Given the description of an element on the screen output the (x, y) to click on. 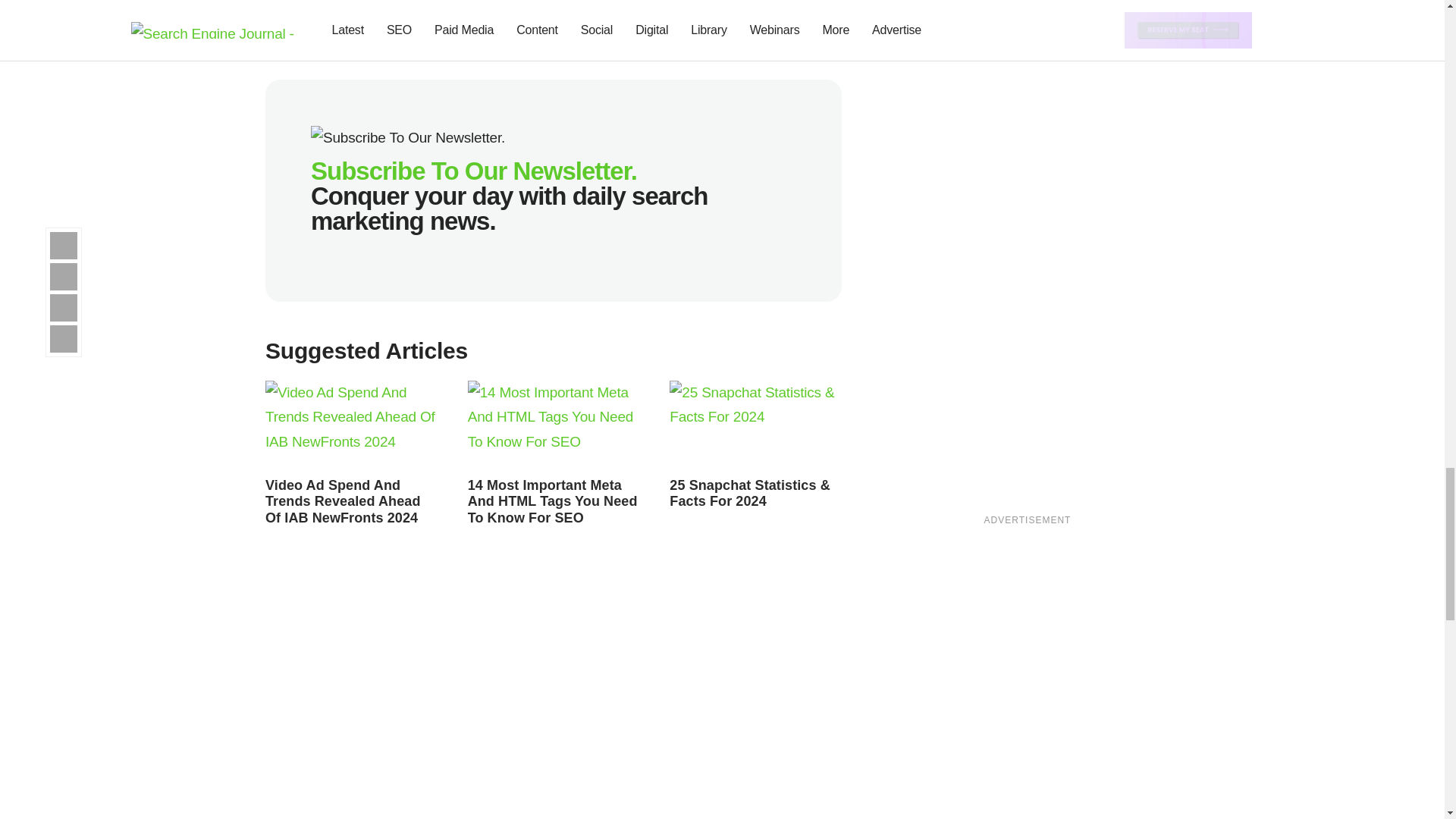
Read the Article (553, 425)
Read the Article (552, 501)
Read the Article (342, 501)
Read the Article (755, 425)
Read the Article (749, 493)
Read the Article (351, 425)
